Given the description of an element on the screen output the (x, y) to click on. 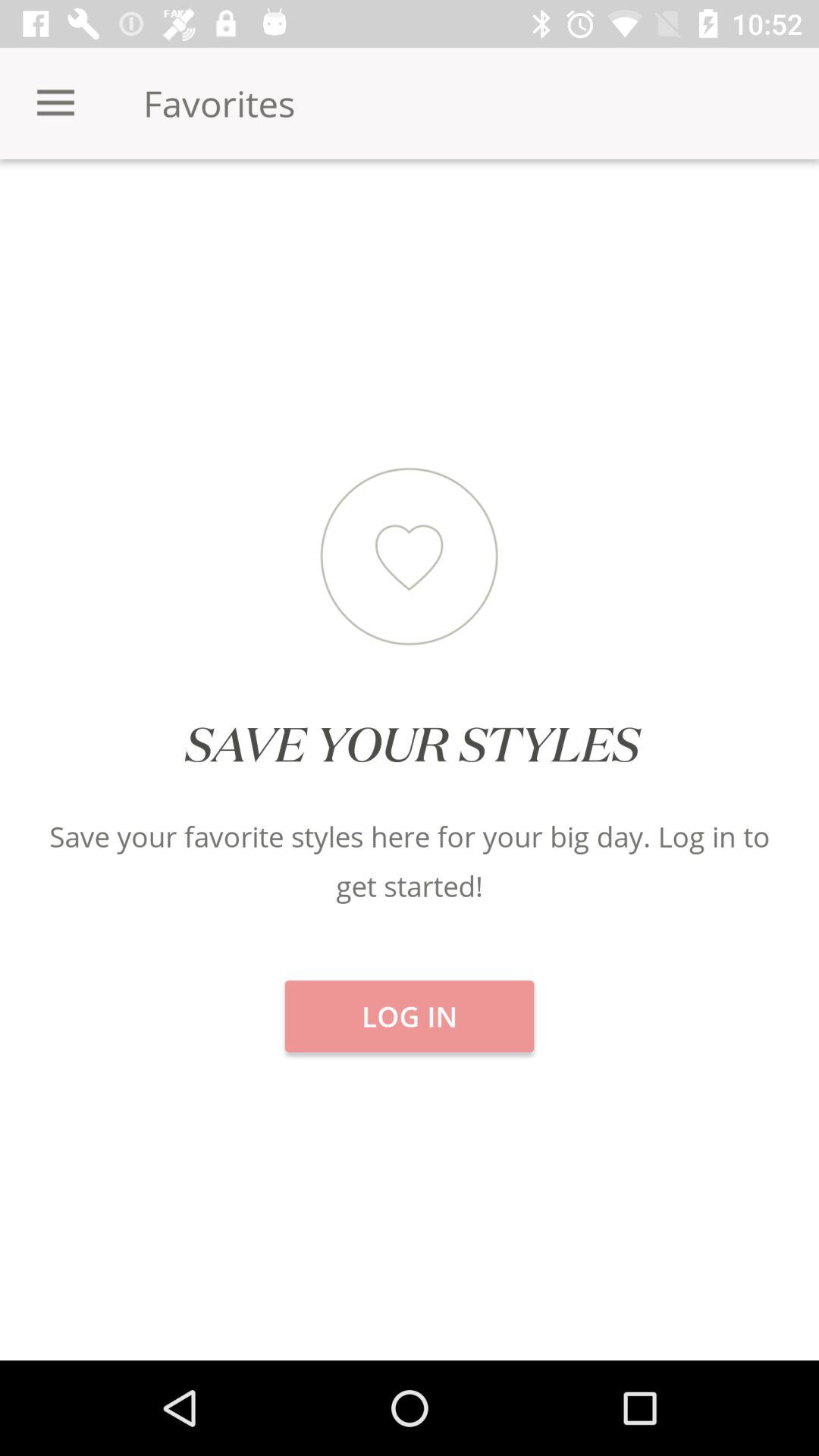
tap the icon to the left of brands icon (409, 212)
